Given the description of an element on the screen output the (x, y) to click on. 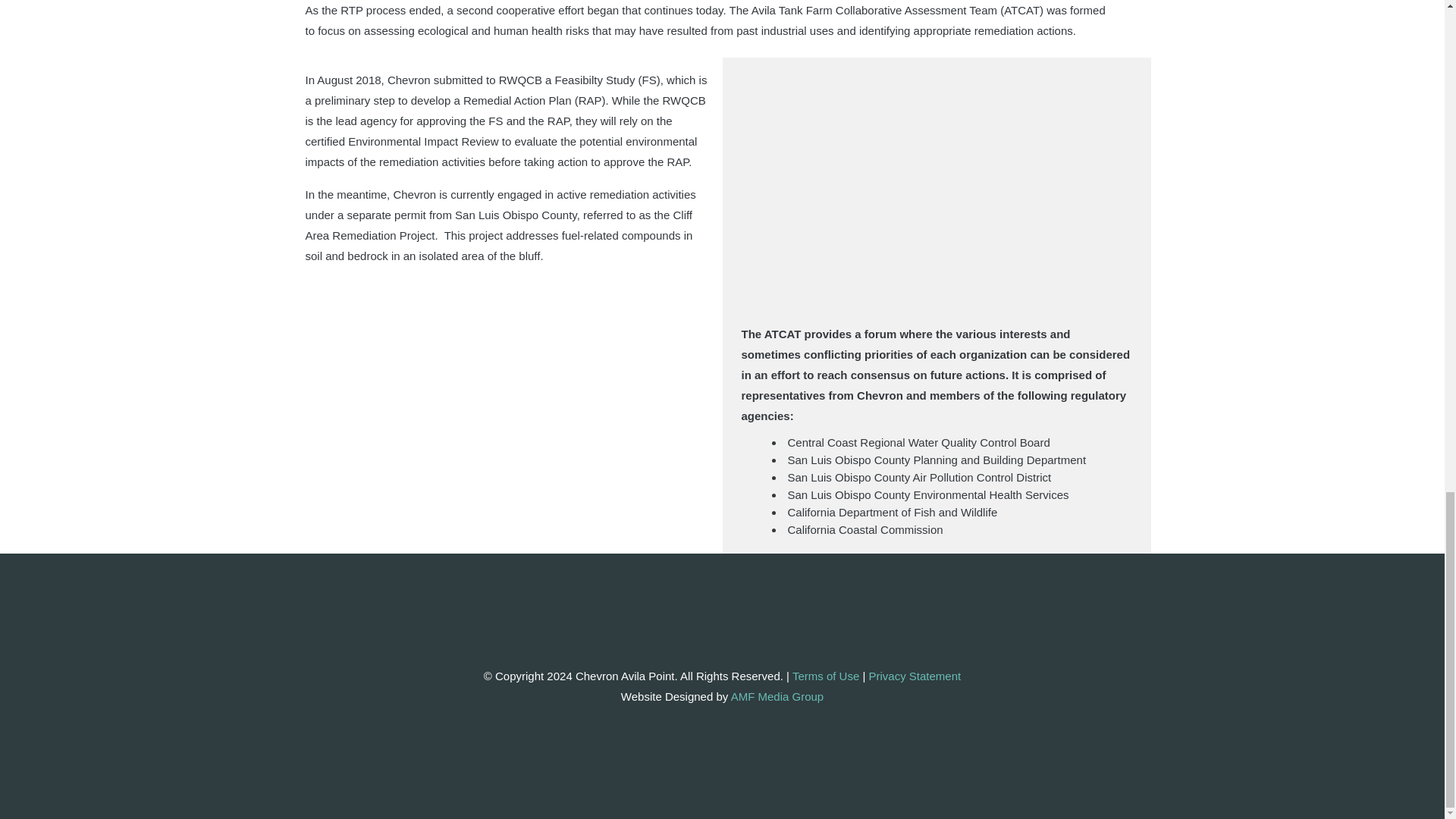
Terms of Use (825, 675)
Privacy Statement (913, 675)
AMF Media Group (777, 696)
